Given the description of an element on the screen output the (x, y) to click on. 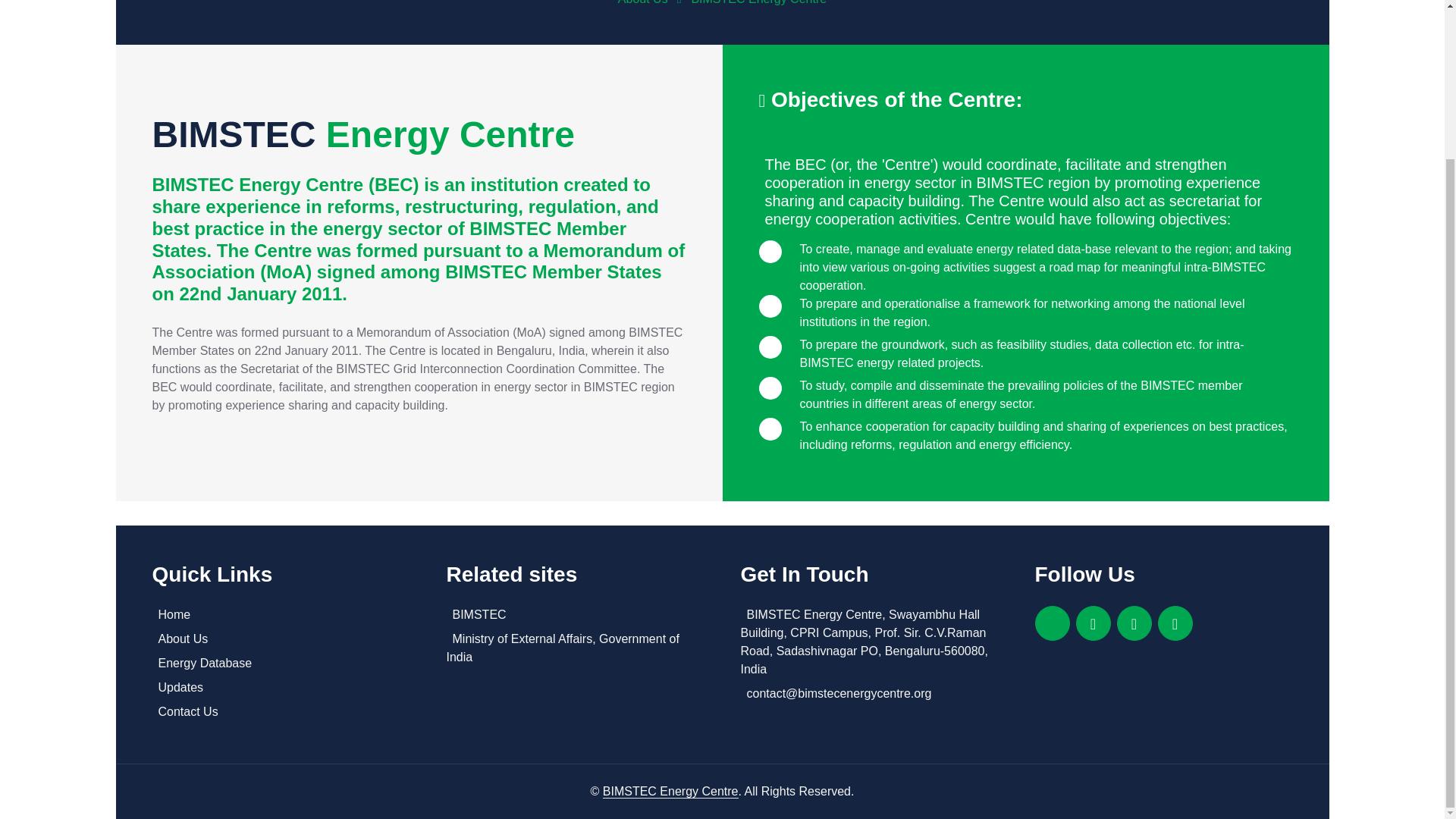
Home (280, 615)
Ministry of External Affairs, Government of India (574, 647)
About Us (642, 2)
About Us (280, 638)
BIMSTEC Energy Centre (758, 2)
BIMSTEC (574, 615)
Energy Database (280, 663)
Updates (280, 687)
Contact Us (280, 711)
